Given the description of an element on the screen output the (x, y) to click on. 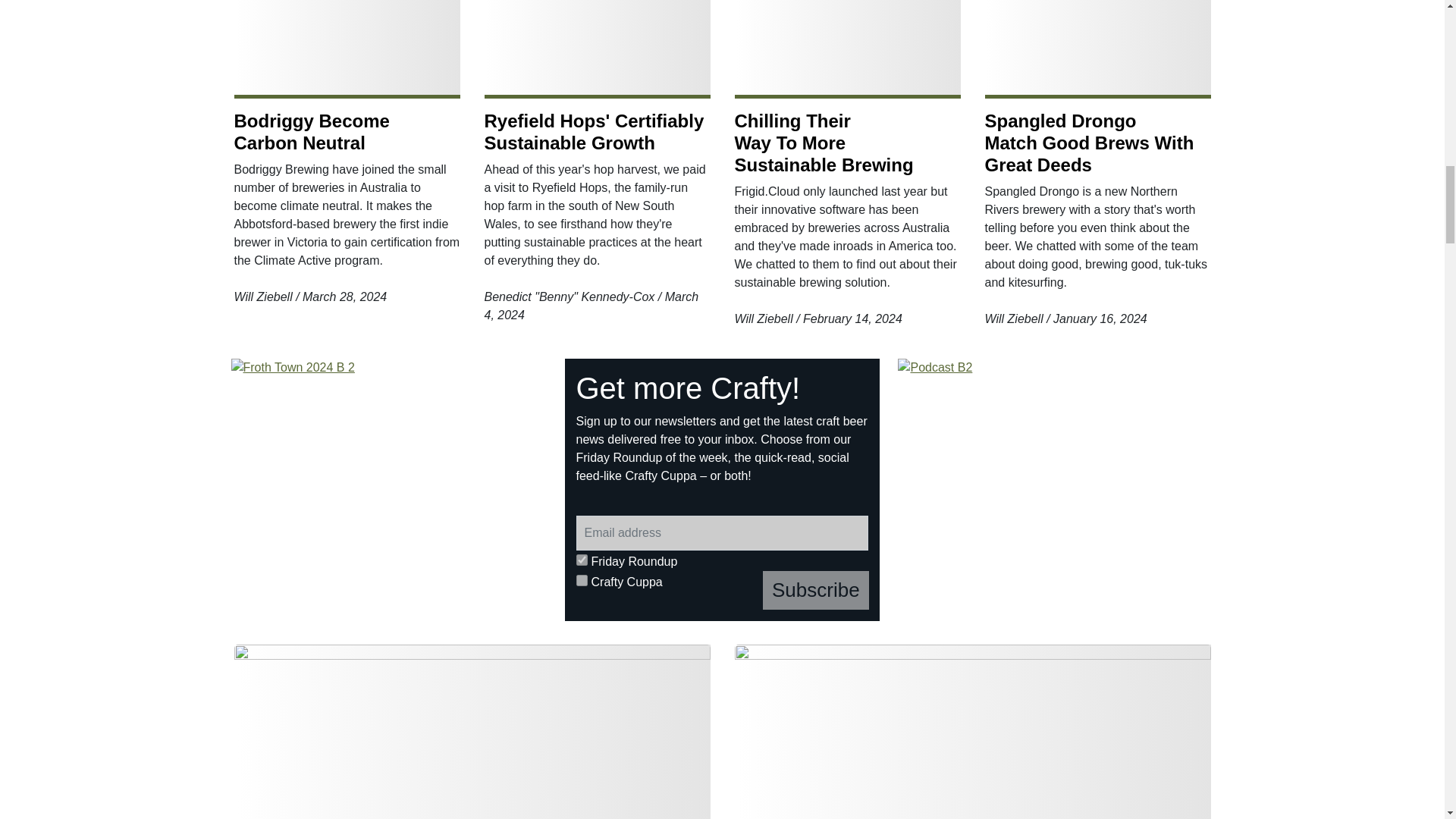
Subscribe (815, 589)
Froth Town 2024 B 2 (389, 489)
friday (582, 559)
cuppa (582, 580)
Podcast B2 (1055, 489)
